Given the description of an element on the screen output the (x, y) to click on. 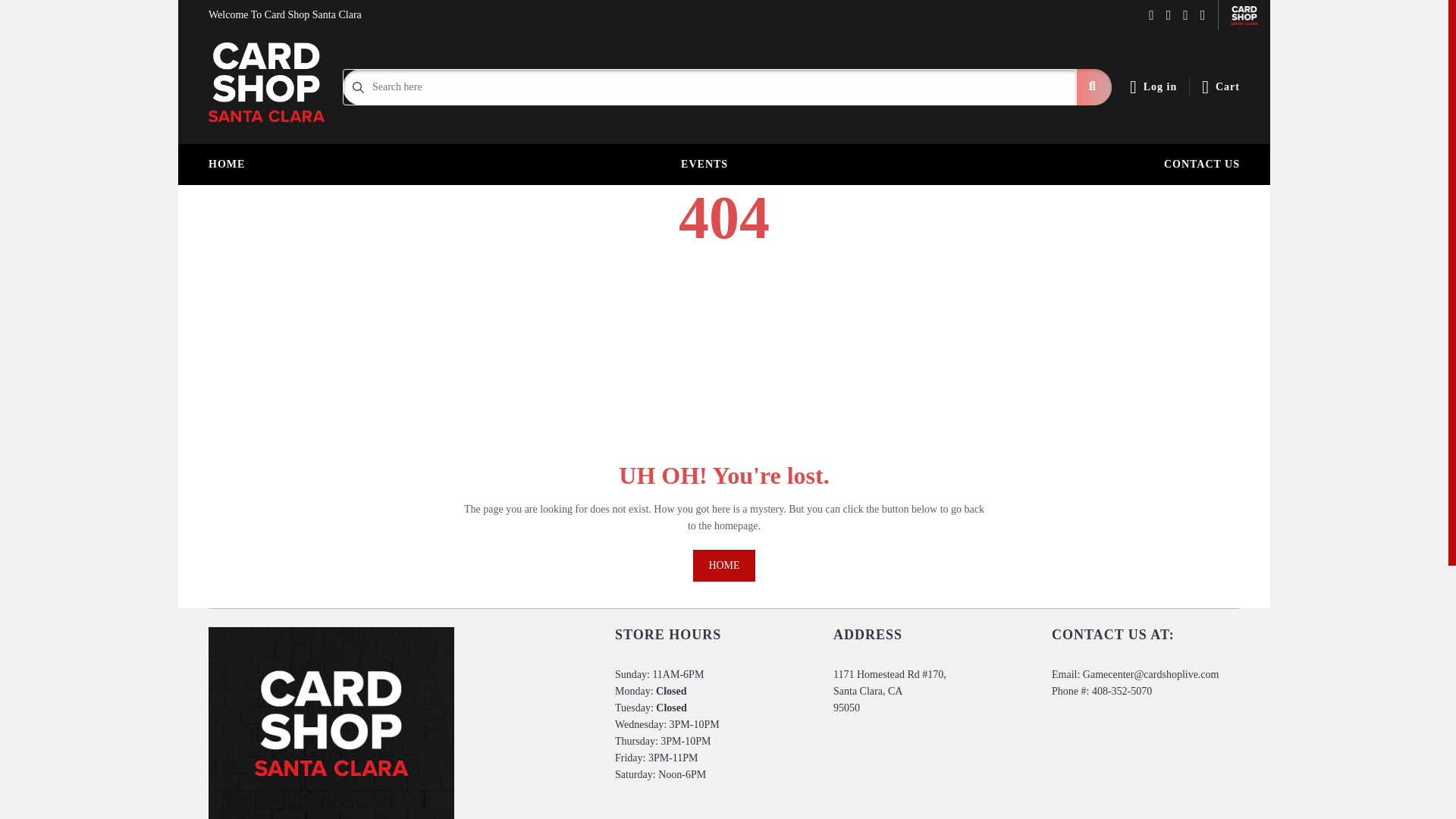
Search (1094, 86)
EVENTS (703, 164)
Cart (1221, 86)
HOME (723, 565)
HOME (226, 164)
CONTACT US (1201, 164)
Log in (1152, 86)
